Given the description of an element on the screen output the (x, y) to click on. 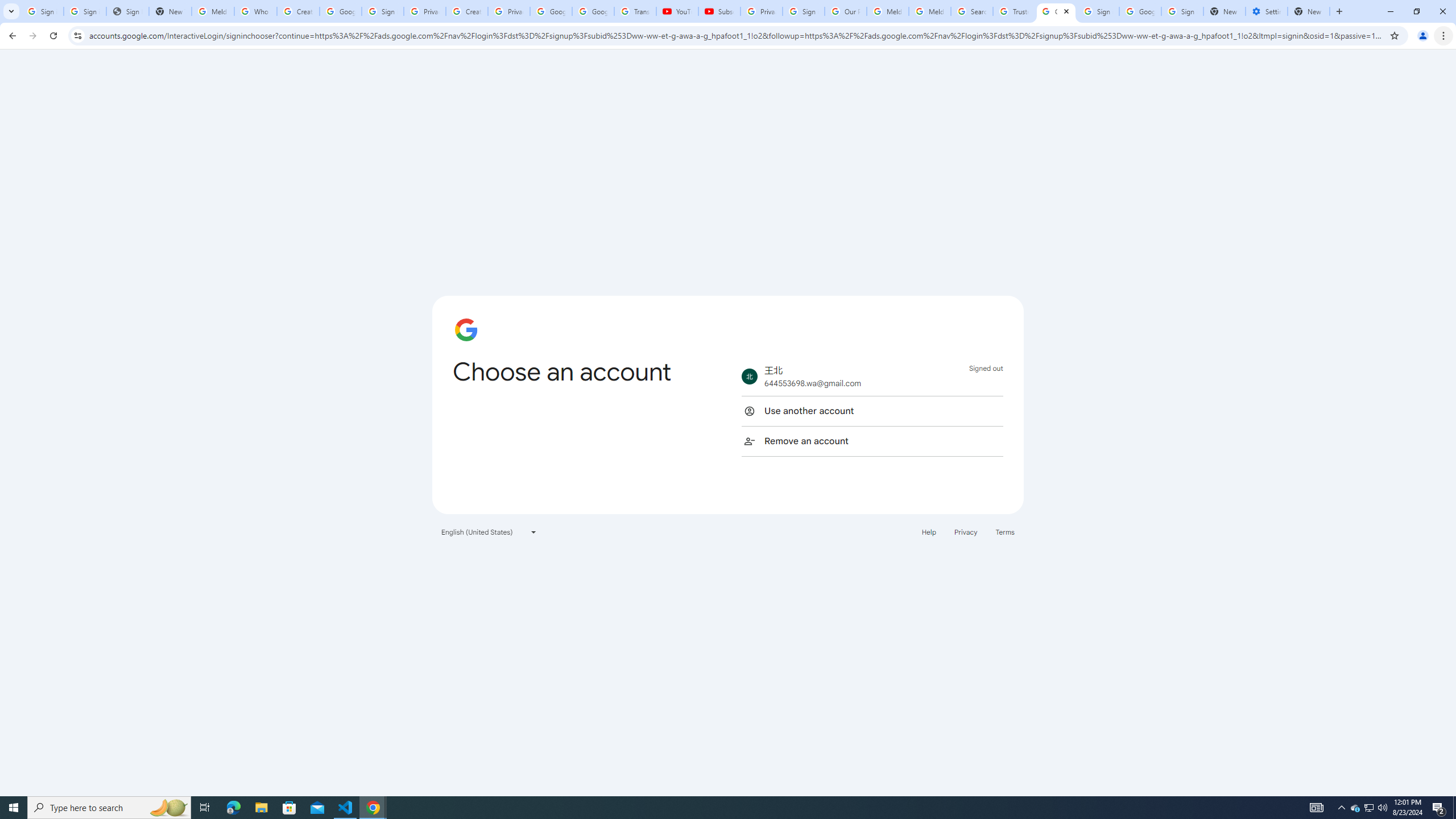
Sign in - Google Accounts (42, 11)
Privacy (965, 531)
Who is my administrator? - Google Account Help (255, 11)
Remove an account (871, 440)
New Tab (1308, 11)
Minimize (1390, 11)
You (1422, 35)
